Given the description of an element on the screen output the (x, y) to click on. 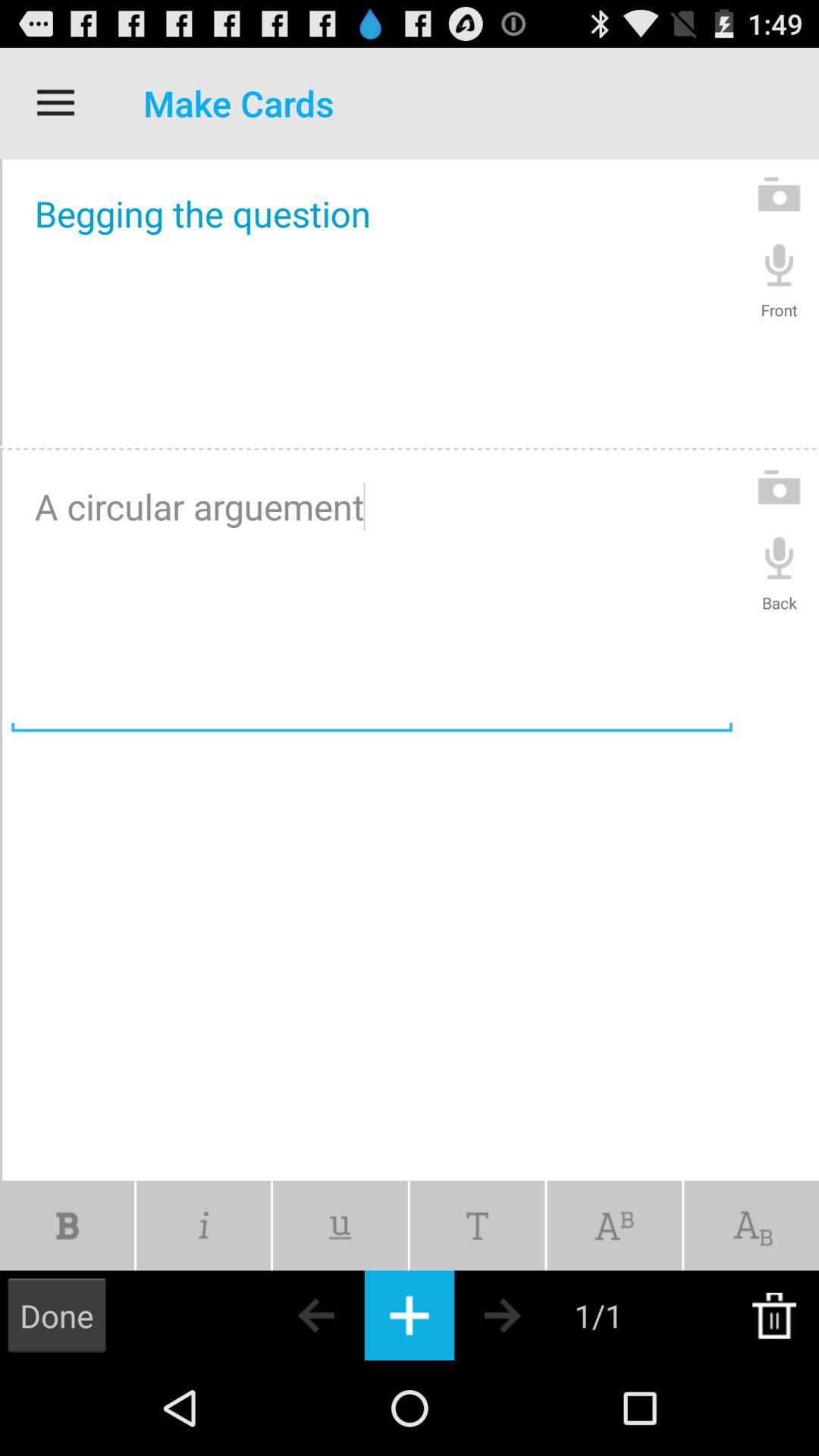
click picture (779, 487)
